Given the description of an element on the screen output the (x, y) to click on. 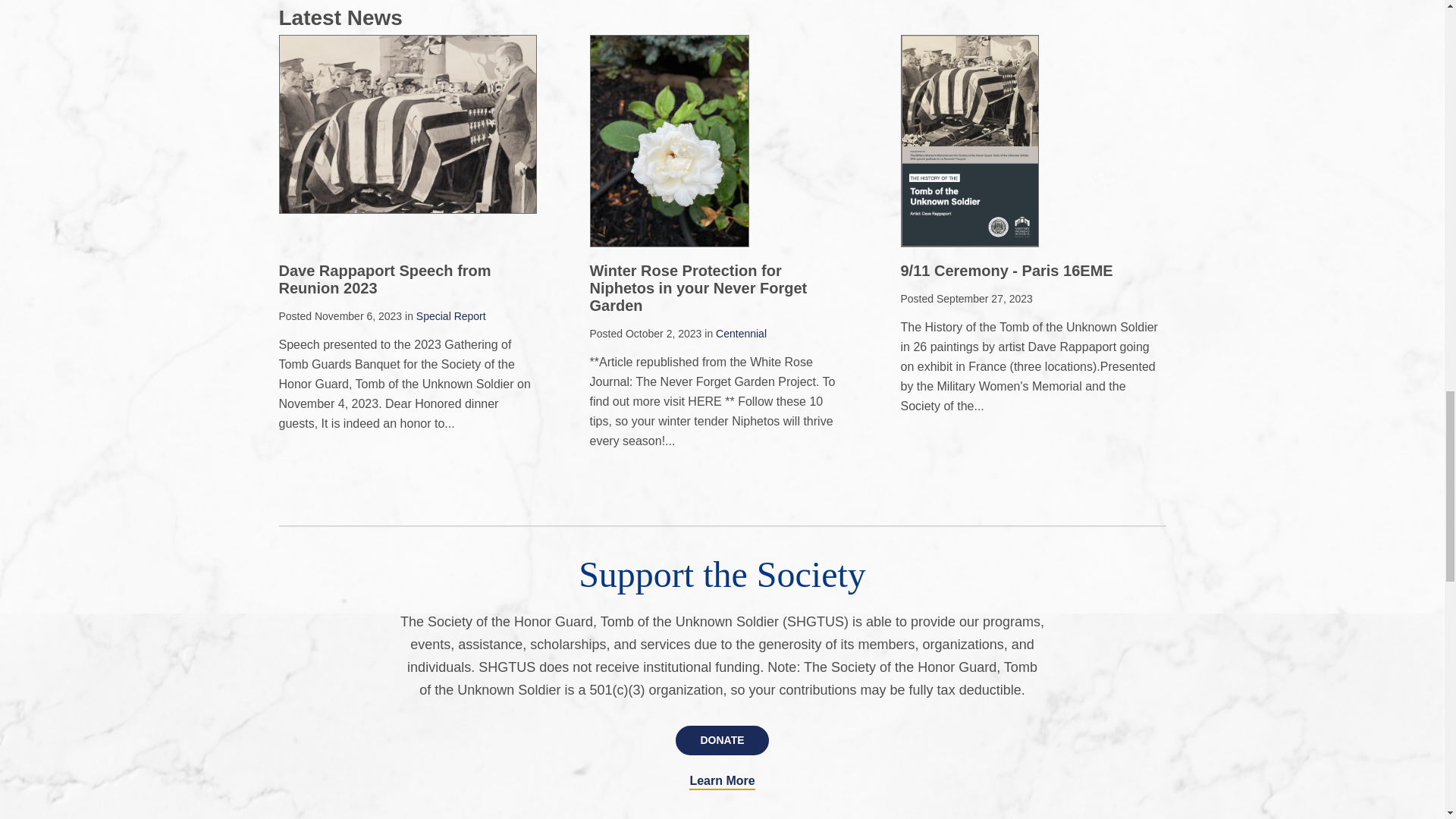
Special Report (451, 316)
DONATE (721, 740)
Learn More (721, 782)
Dave Rappaport Speech from Reunion 2023 (385, 279)
Centennial (741, 333)
